Given the description of an element on the screen output the (x, y) to click on. 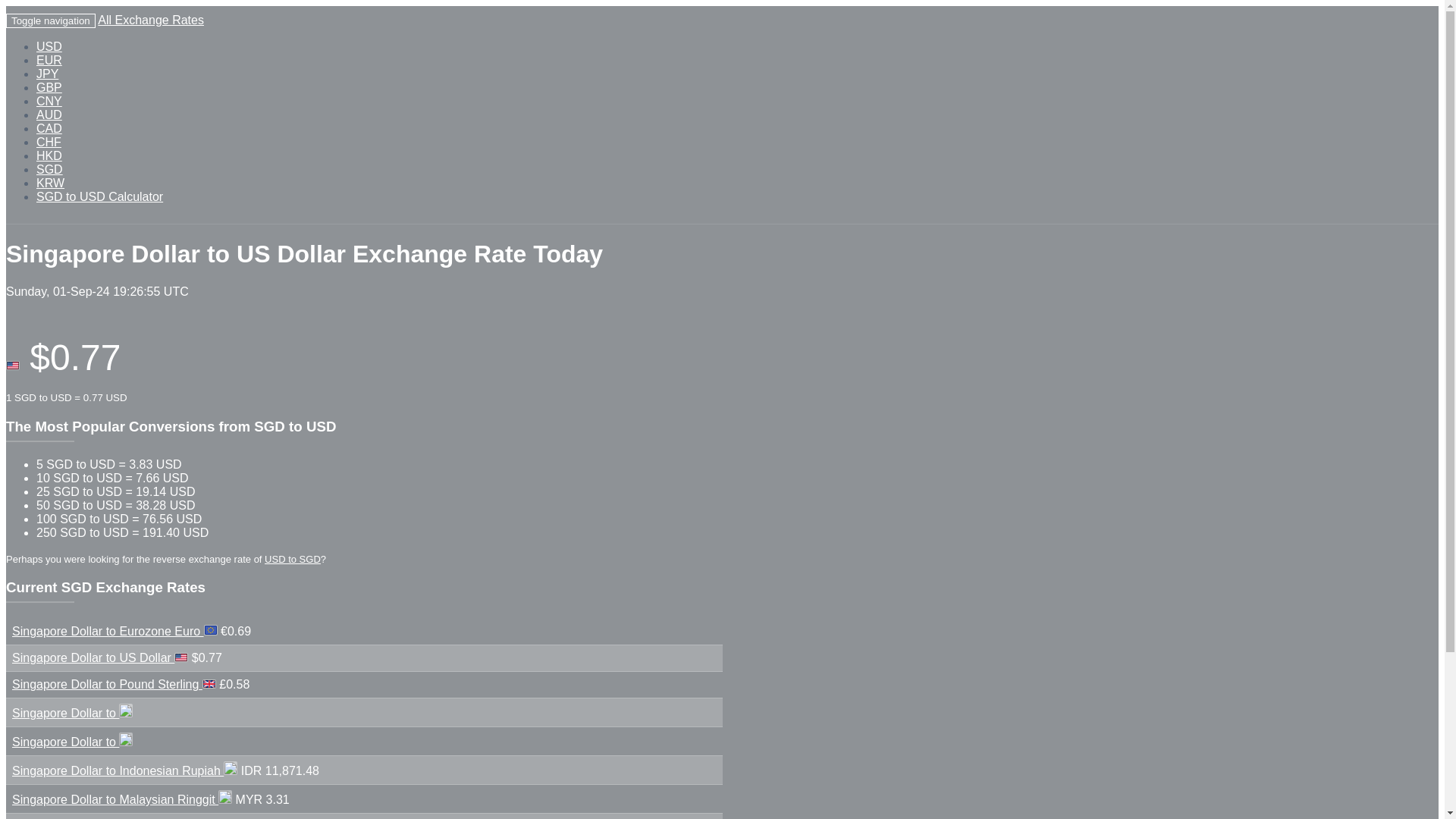
GBP (49, 87)
AUD (49, 114)
Singapore Dollar to (65, 712)
Singapore Dollar to Malaysian Ringgit (114, 799)
EUR (49, 60)
Singapore Dollar to (65, 741)
All Exchange Rates (150, 19)
USD (49, 46)
Singapore Dollar to US Dollar (92, 657)
CAD (49, 128)
